Given the description of an element on the screen output the (x, y) to click on. 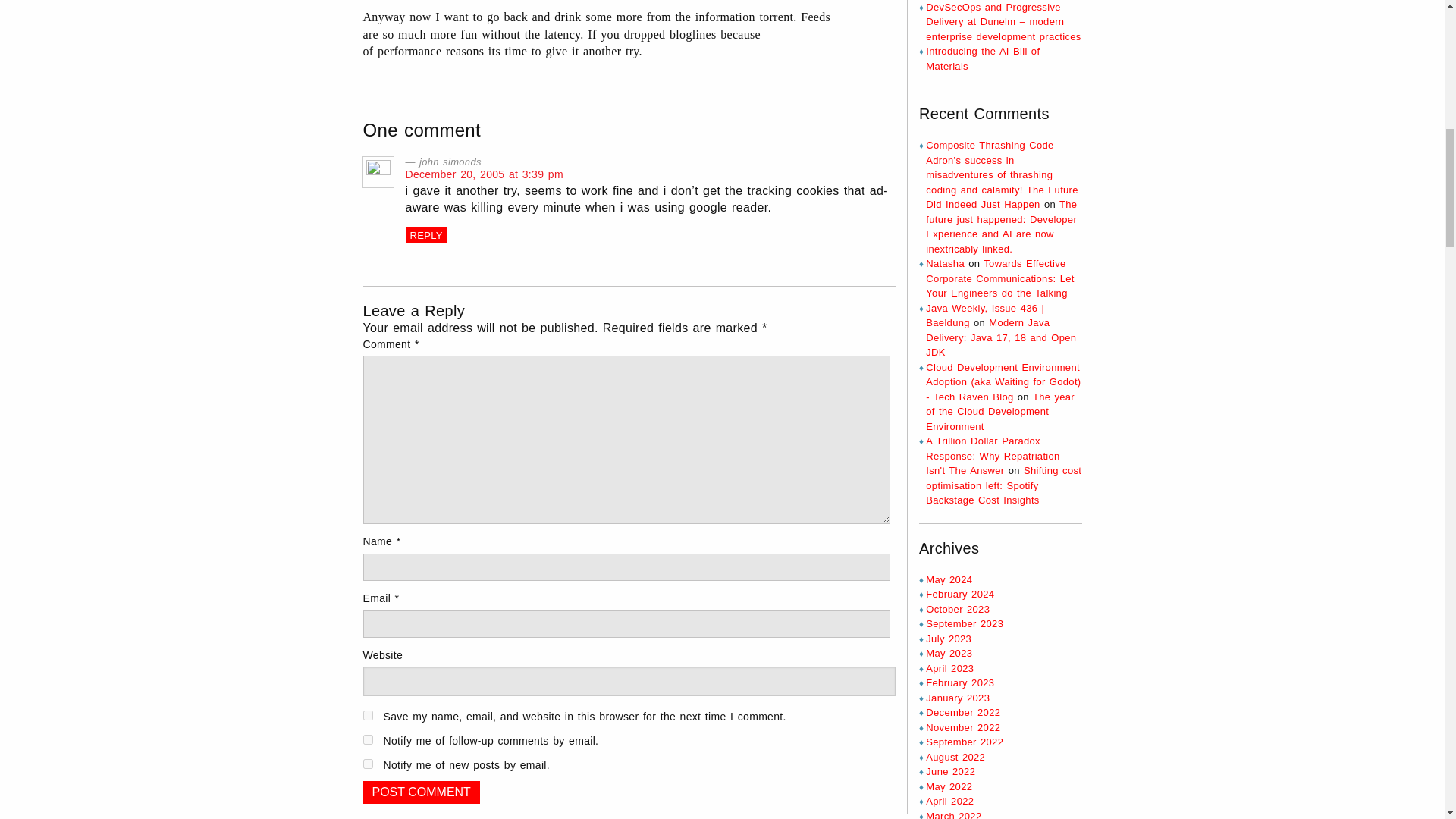
subscribe (367, 764)
Post Comment (420, 792)
December 20, 2005 at 3:39 pm (483, 174)
Post Comment (420, 792)
yes (367, 715)
REPLY (425, 235)
subscribe (367, 739)
